Given the description of an element on the screen output the (x, y) to click on. 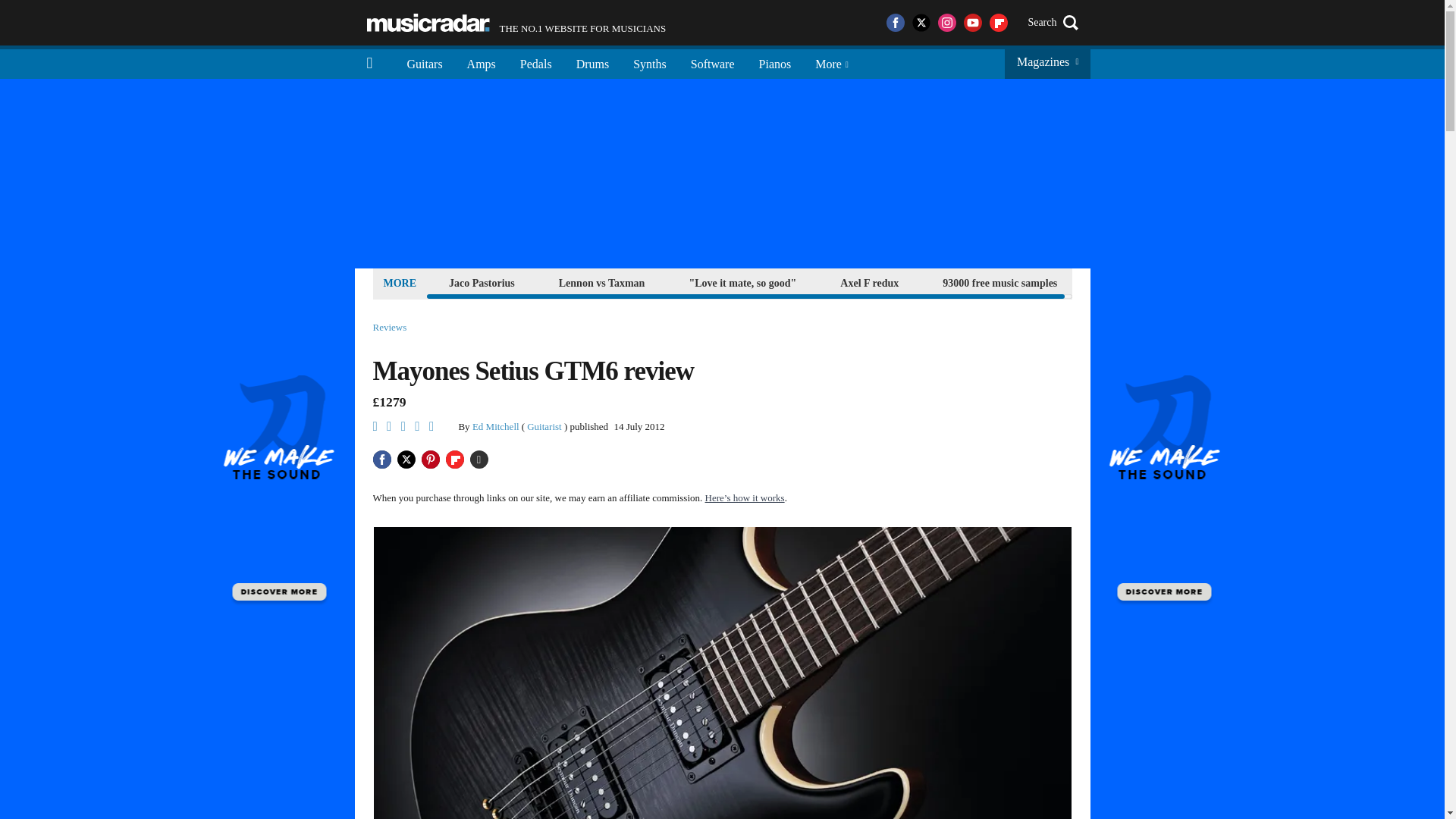
Synths (649, 61)
Lennon vs Taxman (601, 282)
Drums (592, 61)
Pianos (774, 61)
Amps (481, 61)
"Love it mate, so good" (742, 282)
93000 free music samples (999, 282)
Jaco Pastorius (481, 282)
Axel F redux (869, 282)
Music Radar (516, 22)
Reviews (427, 22)
Advertisement (389, 327)
